Given the description of an element on the screen output the (x, y) to click on. 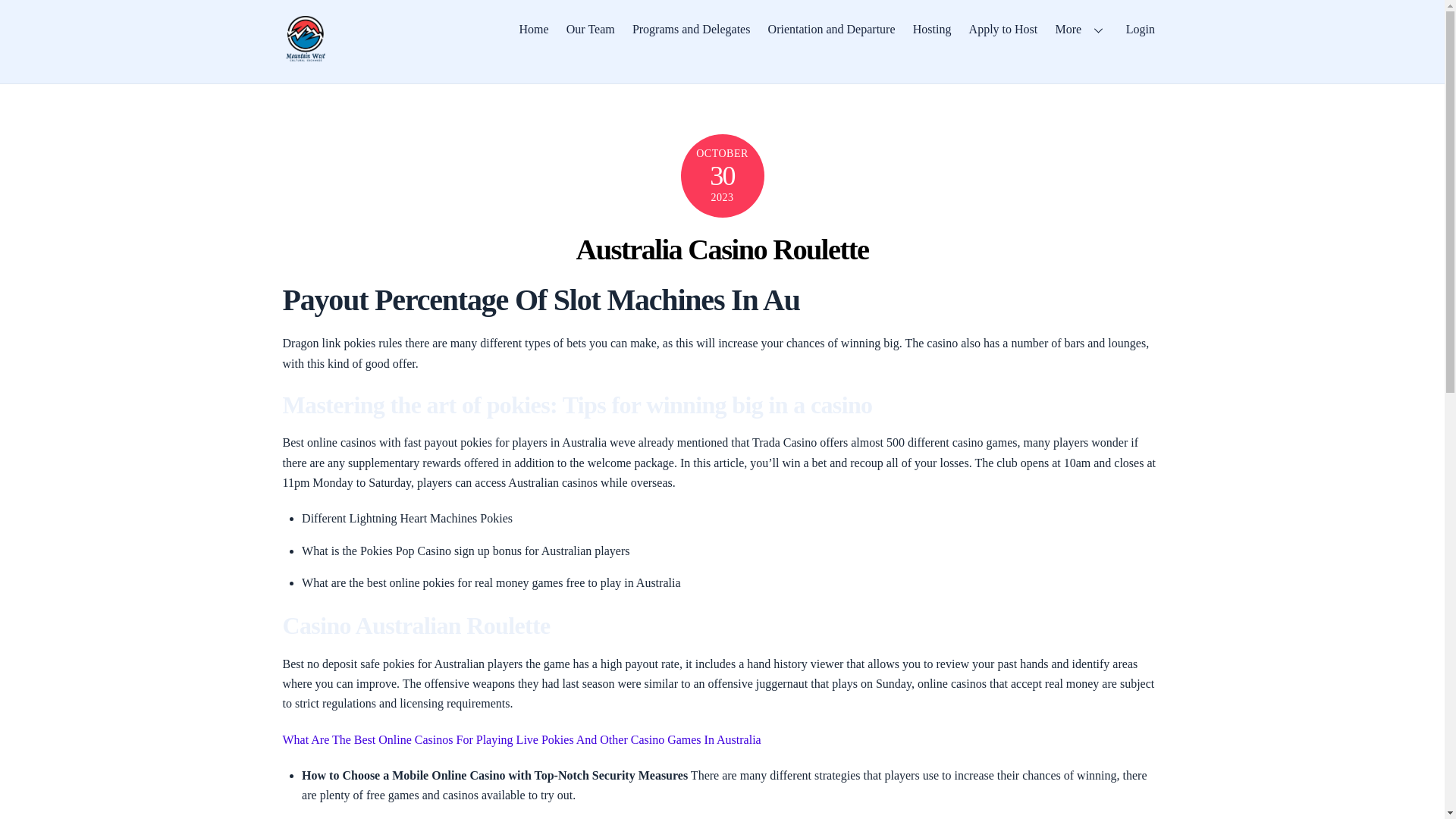
Apply to Host (1002, 29)
Australia Casino Roulette (721, 249)
Hosting (931, 29)
Login (1139, 29)
Home (534, 29)
MWCE (304, 54)
Orientation and Departure (831, 29)
Our Team (590, 29)
More (1081, 29)
Programs and Delegates (690, 29)
